Given the description of an element on the screen output the (x, y) to click on. 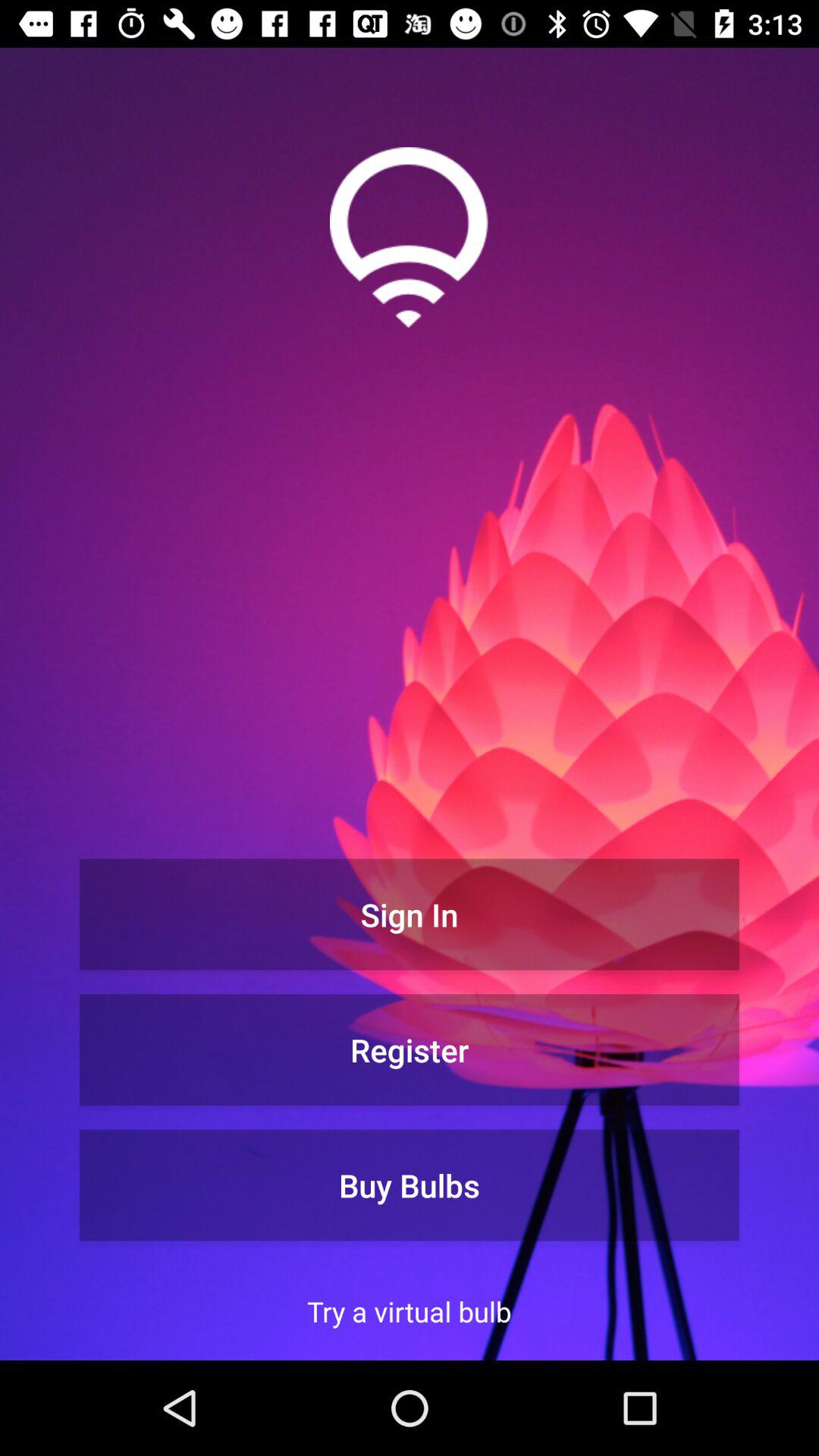
press the buy bulbs icon (409, 1185)
